Given the description of an element on the screen output the (x, y) to click on. 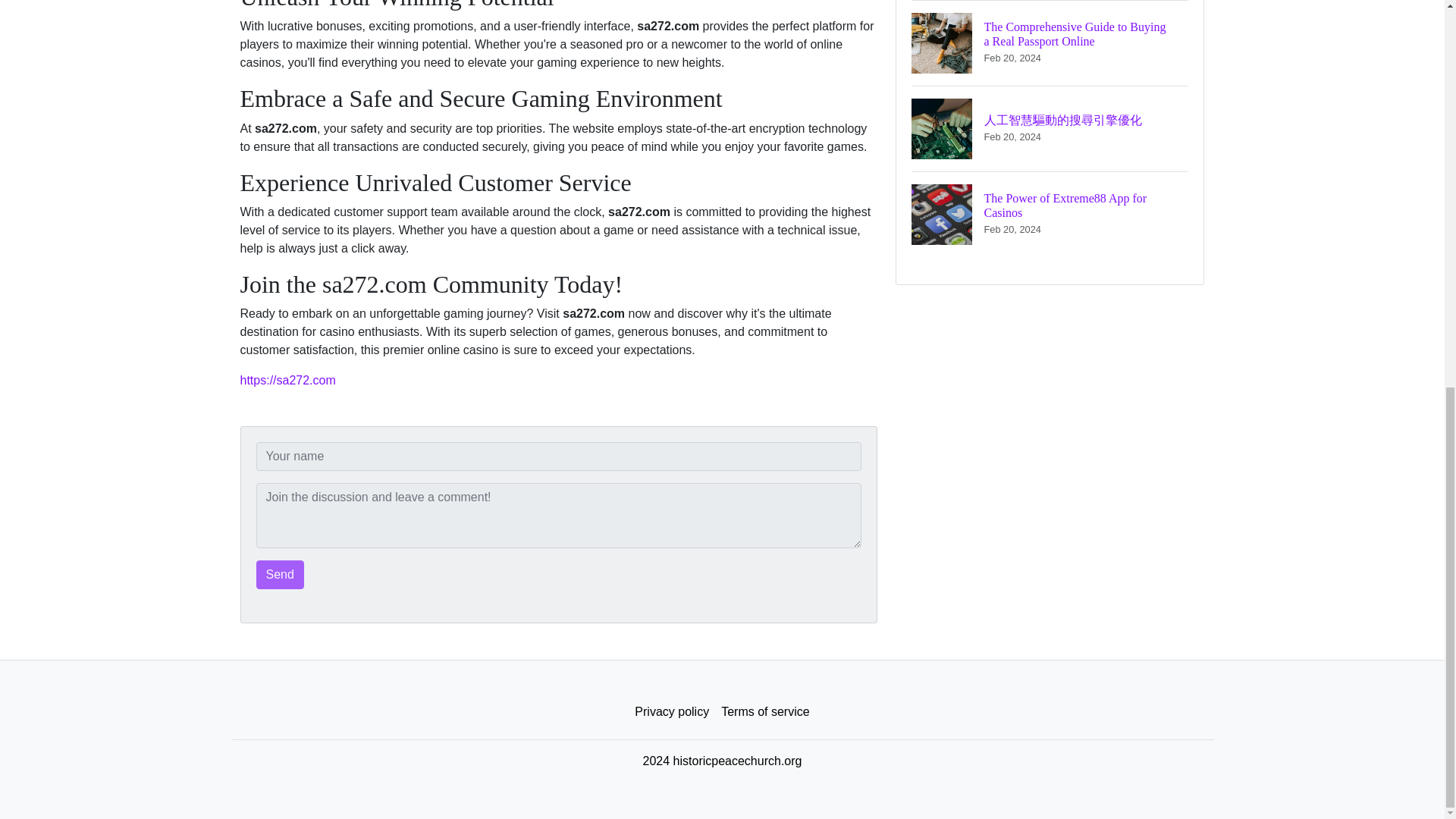
Send (280, 574)
Terms of service (1050, 214)
Privacy policy (764, 711)
Send (671, 711)
